Given the description of an element on the screen output the (x, y) to click on. 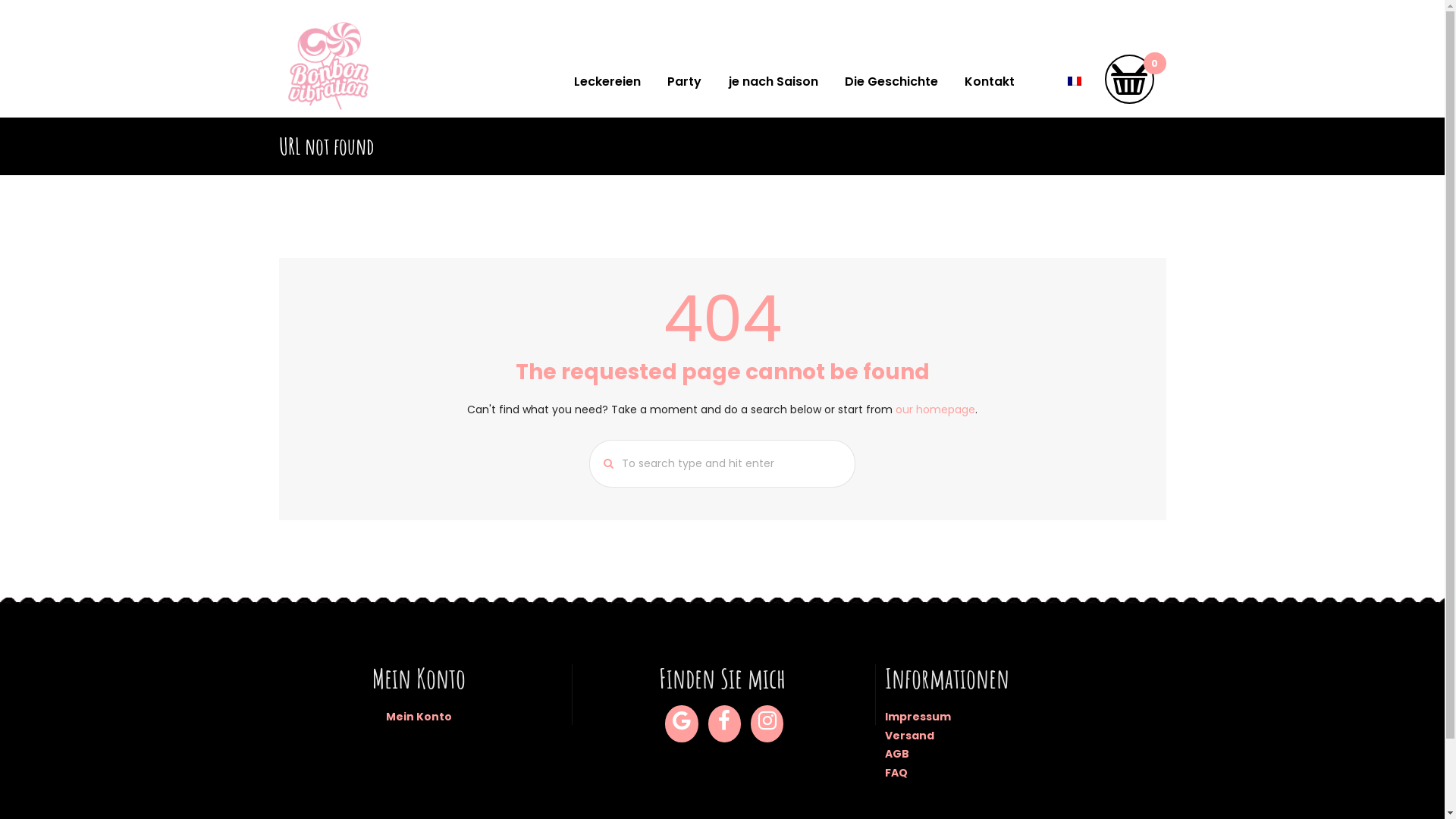
Start search Element type: hover (602, 463)
Mein Konto Element type: text (418, 716)
je nach Saison Element type: text (773, 82)
our homepage Element type: text (935, 409)
Versand Element type: text (909, 735)
Party Element type: text (684, 82)
AGB Element type: text (896, 753)
Kontakt Element type: text (988, 82)
Die Geschichte Element type: text (890, 82)
Leckereien Element type: text (607, 82)
FAQ Element type: text (895, 772)
Impressum Element type: text (917, 716)
